Given the description of an element on the screen output the (x, y) to click on. 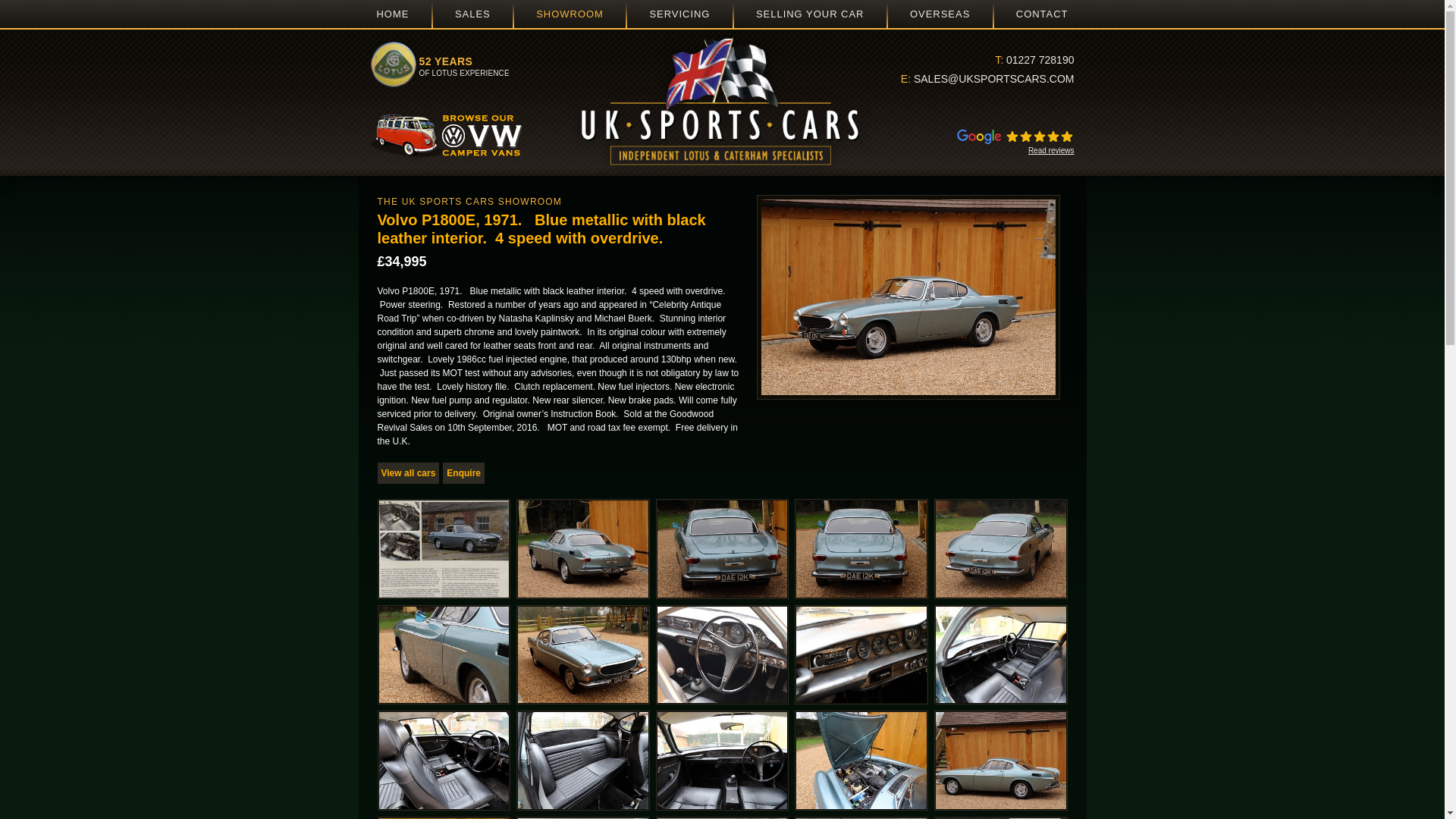
Read reviews (984, 139)
Enquire (463, 473)
SERVICING (679, 13)
CONTACT (1041, 13)
OVERSEAS (939, 13)
View all cars (408, 473)
Showroom (569, 13)
SALES (392, 13)
Overseas (472, 13)
SHOWROOM (939, 13)
Contact (569, 13)
Selling your car (1041, 13)
SELLING YOUR CAR (810, 13)
Team (810, 13)
